Given the description of an element on the screen output the (x, y) to click on. 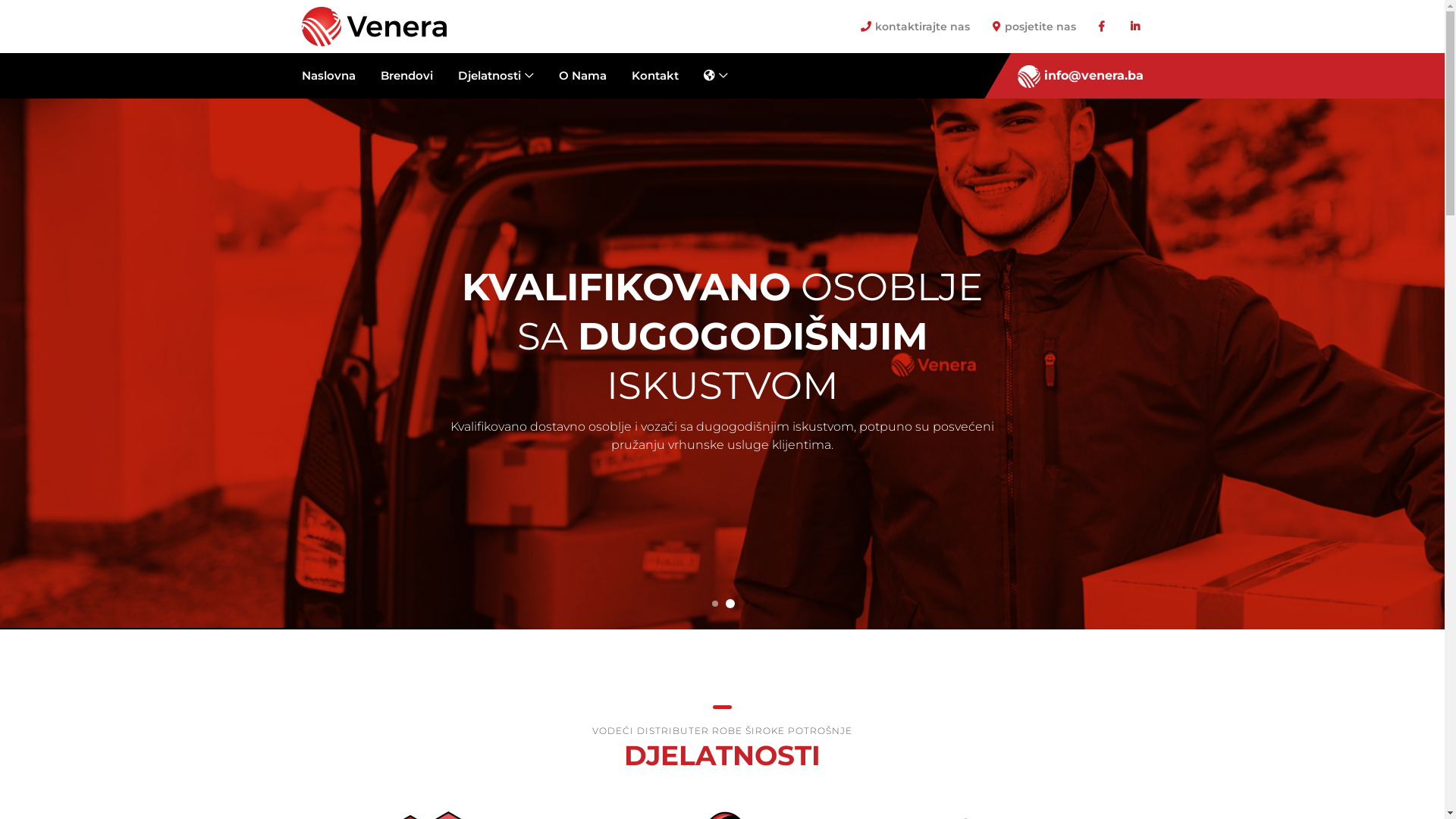
posjetite nas Element type: text (1033, 26)
kontaktirajte nas Element type: text (914, 26)
Kontakt Element type: text (655, 75)
O Nama Element type: text (582, 75)
Naslovna Element type: text (334, 75)
Djelatnosti Element type: text (494, 75)
info@venera.ba Element type: text (1080, 75)
Brendovi Element type: text (405, 75)
